Given the description of an element on the screen output the (x, y) to click on. 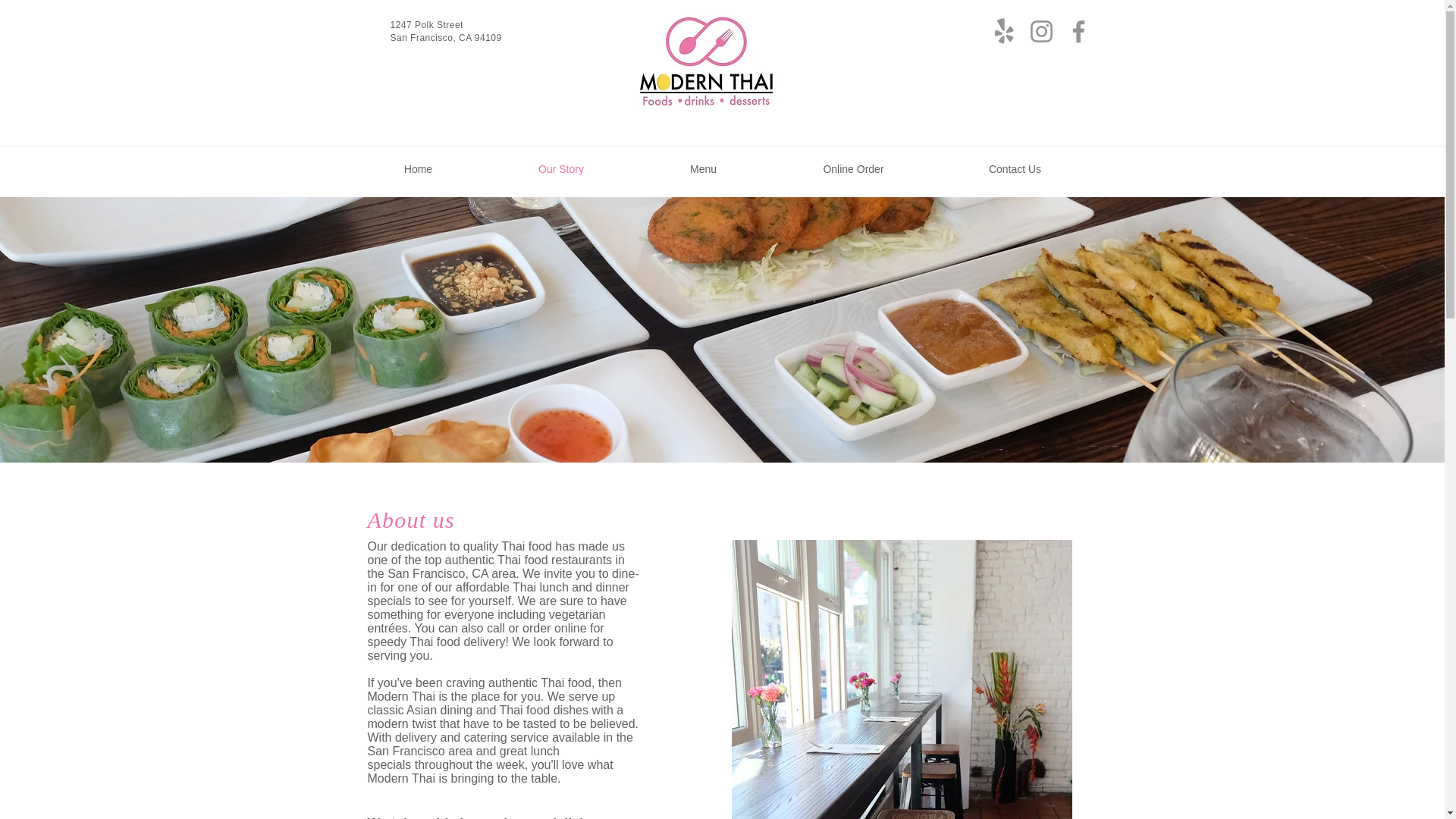
Our Story (560, 168)
Contact Us (1015, 168)
Menu (703, 168)
Home (417, 168)
